Given the description of an element on the screen output the (x, y) to click on. 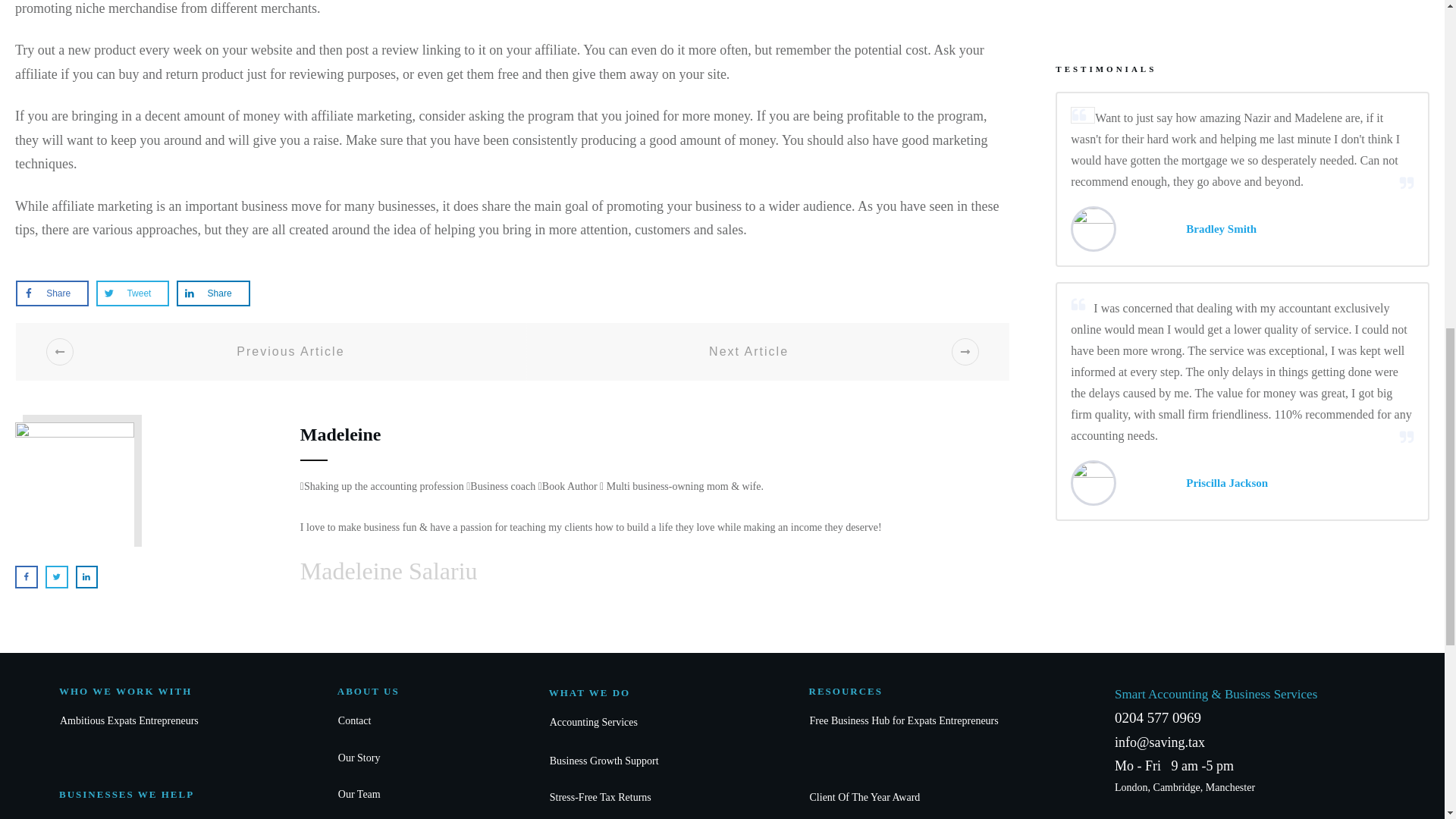
Madeleine Salariu 1 (73, 488)
Share (52, 292)
Next Article (768, 351)
Tweet (132, 292)
Share (212, 292)
Previous Article (271, 351)
